Given the description of an element on the screen output the (x, y) to click on. 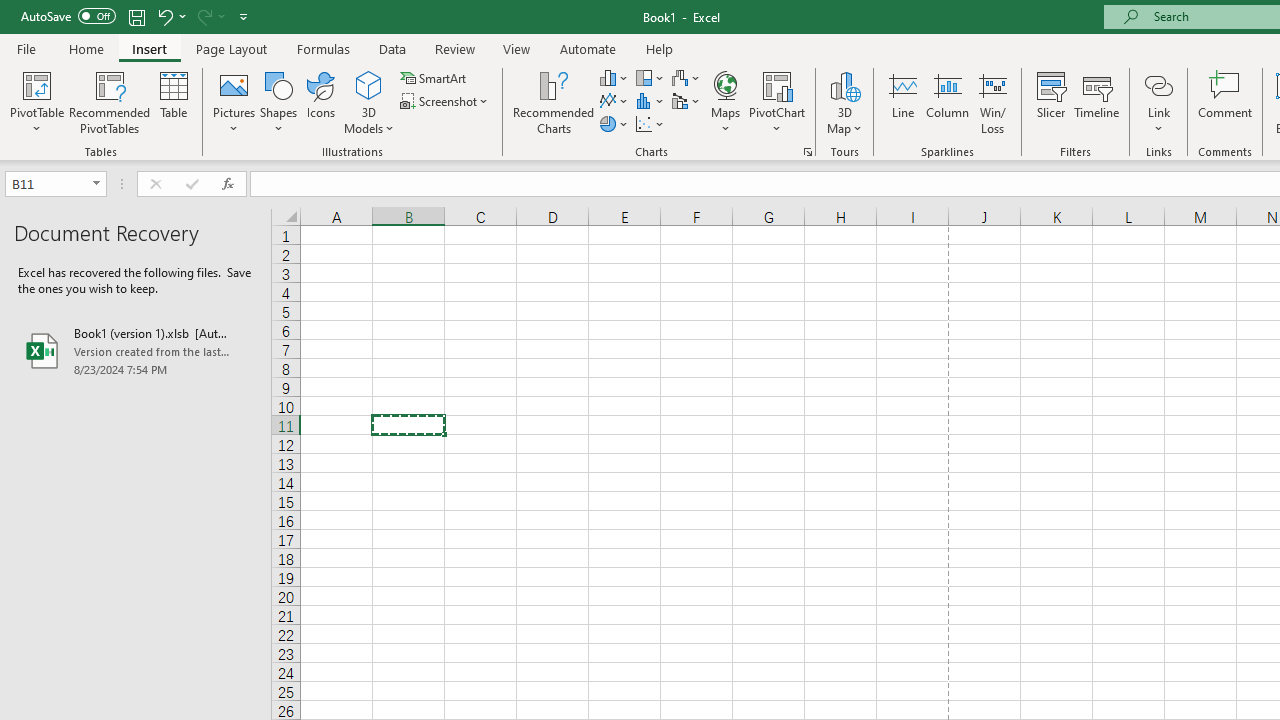
Maps (726, 102)
Slicer... (1051, 102)
Icons (320, 102)
Recommended Charts (808, 151)
Column (947, 102)
Link (1158, 102)
Link (1158, 84)
Comment (1224, 102)
3D Map (845, 84)
